Given the description of an element on the screen output the (x, y) to click on. 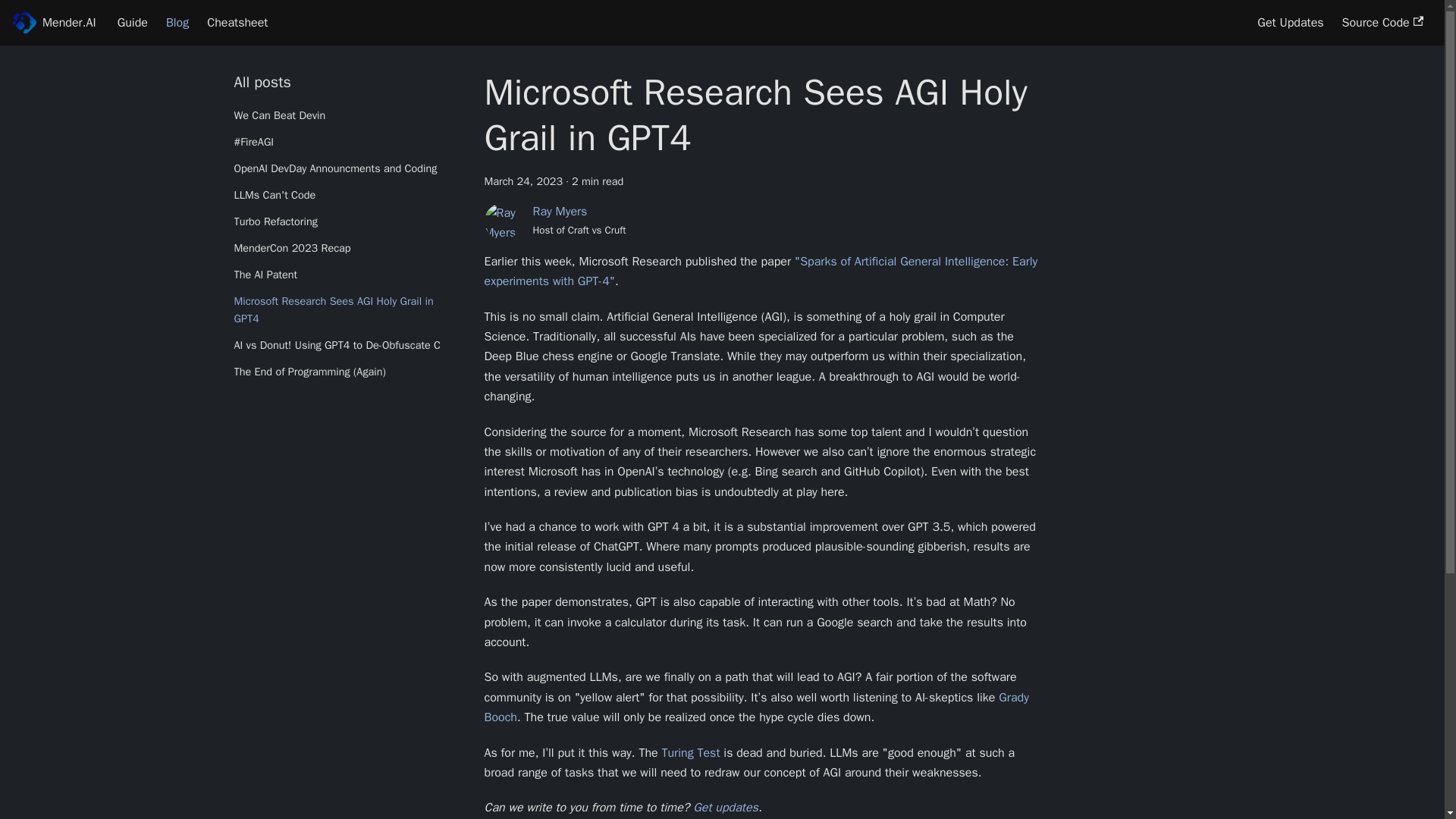
MenderCon 2023 Recap (346, 248)
We Can Beat Devin (346, 116)
The AI Patent (346, 275)
Turbo Refactoring (346, 221)
Grady Booch (755, 707)
Ray Myers (559, 211)
AI vs Donut! Using GPT4 to De-Obfuscate C (346, 345)
OpenAI DevDay Announcments and Coding (346, 168)
Cheatsheet (237, 22)
Blog (177, 22)
Source Code (1382, 22)
Mender.AI (53, 22)
Get updates (725, 807)
Turing Test (690, 752)
